Given the description of an element on the screen output the (x, y) to click on. 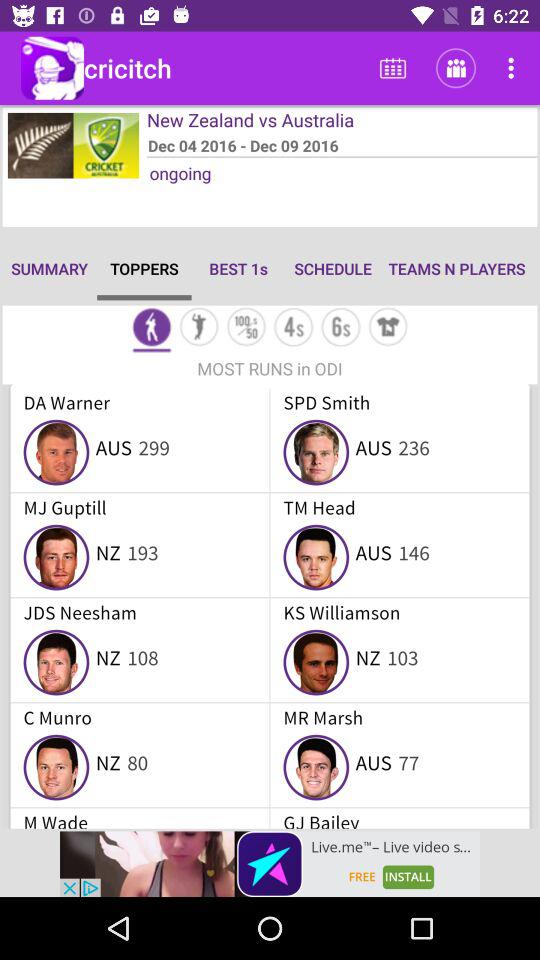
add install (270, 864)
